Given the description of an element on the screen output the (x, y) to click on. 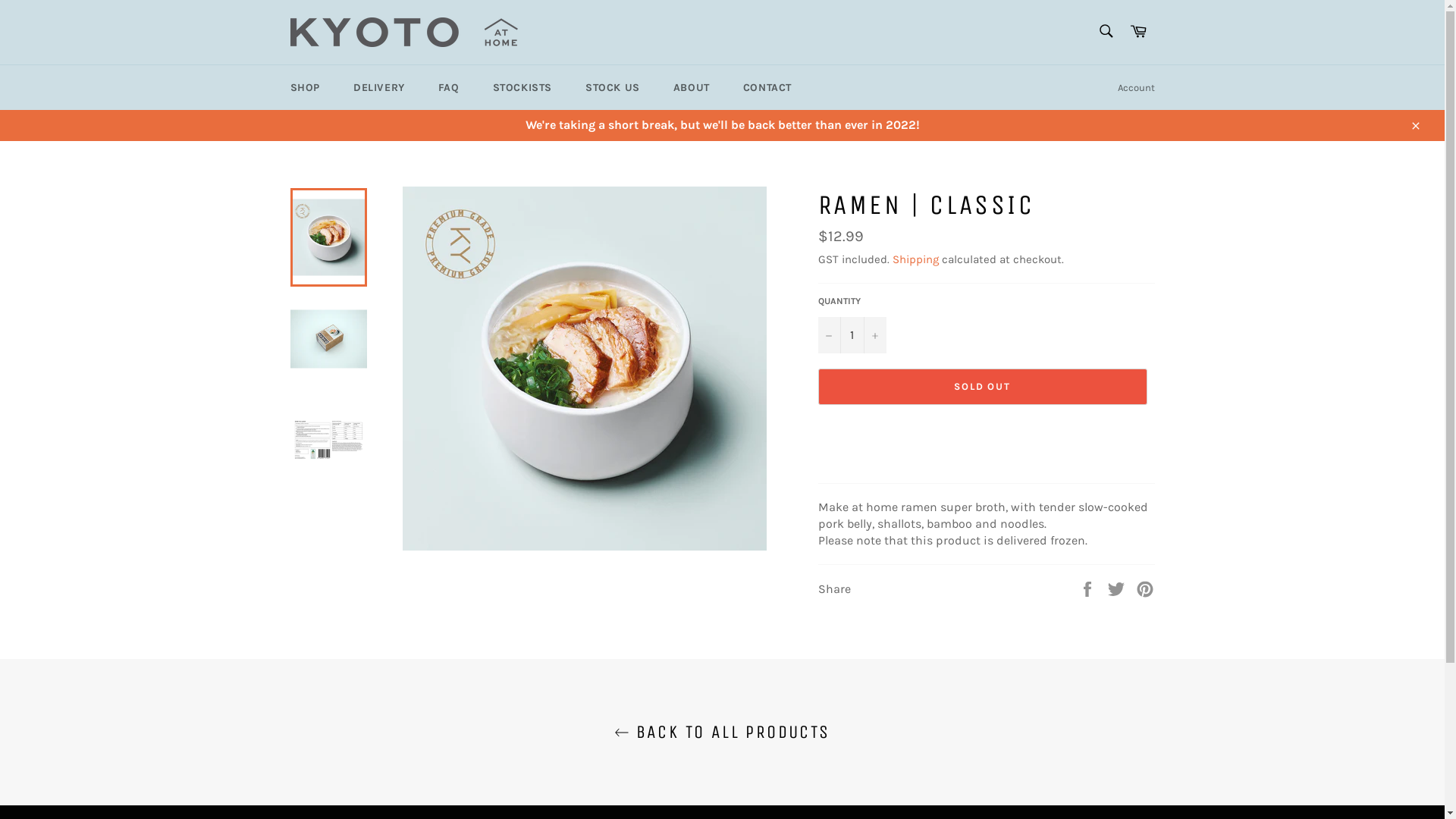
STOCKISTS Element type: text (522, 87)
DELIVERY Element type: text (379, 87)
Search Element type: text (1105, 31)
Pin on Pinterest Element type: text (1144, 587)
Share on Facebook Element type: text (1088, 587)
Account Element type: text (1136, 87)
Cart Element type: text (1138, 32)
SOLD OUT Element type: text (981, 386)
Close Element type: text (1414, 125)
CONTACT Element type: text (767, 87)
BACK TO ALL PRODUCTS Element type: text (722, 731)
+ Element type: text (873, 334)
Tweet on Twitter Element type: text (1117, 587)
ABOUT Element type: text (691, 87)
SHOP Element type: text (304, 87)
FAQ Element type: text (448, 87)
STOCK US Element type: text (612, 87)
Shipping Element type: text (914, 259)
